Given the description of an element on the screen output the (x, y) to click on. 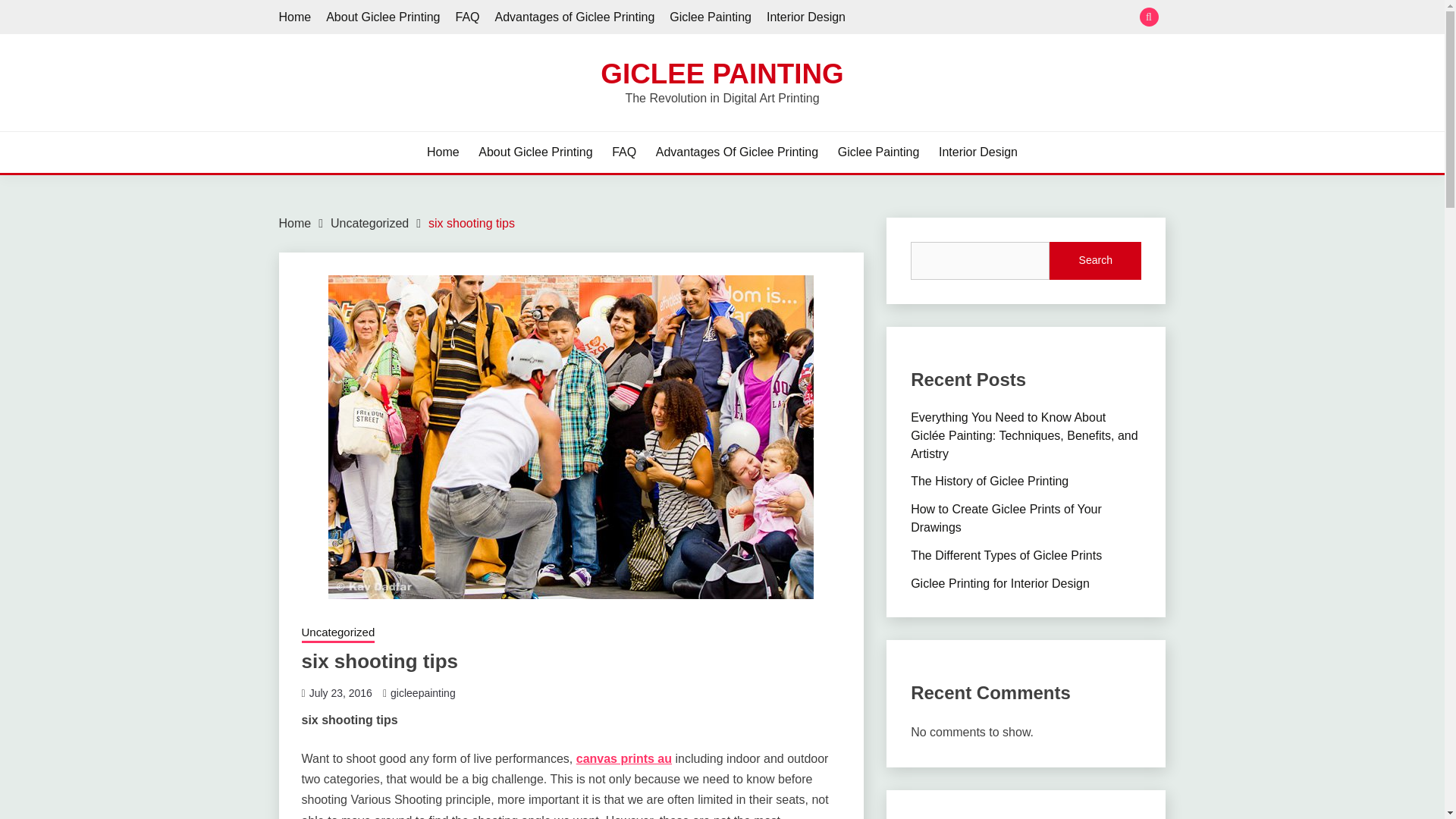
July 23, 2016 (340, 693)
Search (832, 18)
six shooting tips (471, 223)
Interior Design (806, 16)
FAQ (623, 152)
GICLEE PAINTING (721, 73)
Advantages Of Giclee Printing (737, 152)
canvas prints au (623, 758)
Home (295, 16)
Home (443, 152)
